Given the description of an element on the screen output the (x, y) to click on. 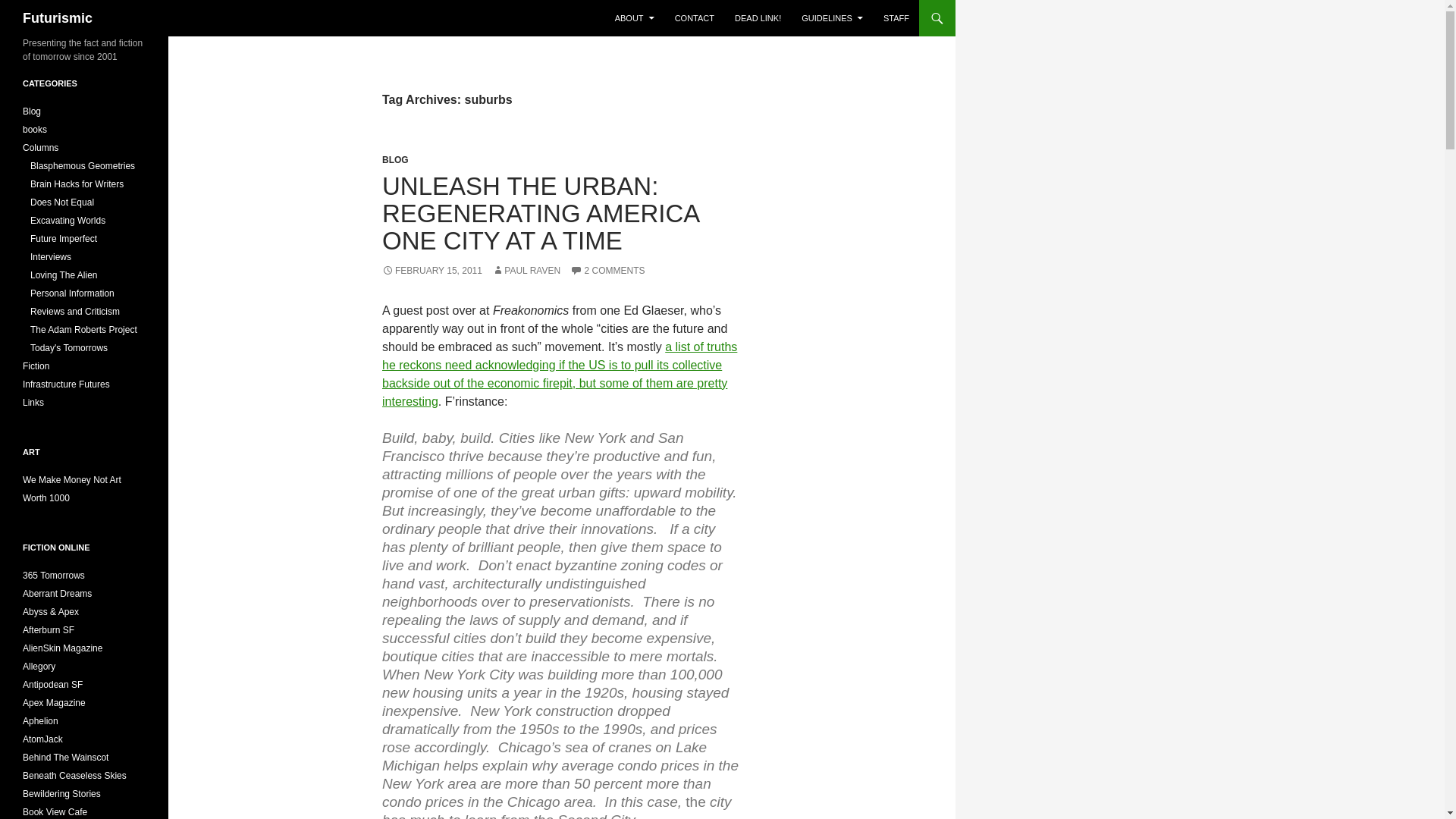
STAFF (896, 18)
PAUL RAVEN (526, 270)
GUIDELINES (832, 18)
BLOG (395, 159)
ABOUT (634, 18)
UNLEASH THE URBAN: REGENERATING AMERICA ONE CITY AT A TIME (539, 212)
FEBRUARY 15, 2011 (431, 270)
CONTACT (694, 18)
DEAD LINK! (757, 18)
